Given the description of an element on the screen output the (x, y) to click on. 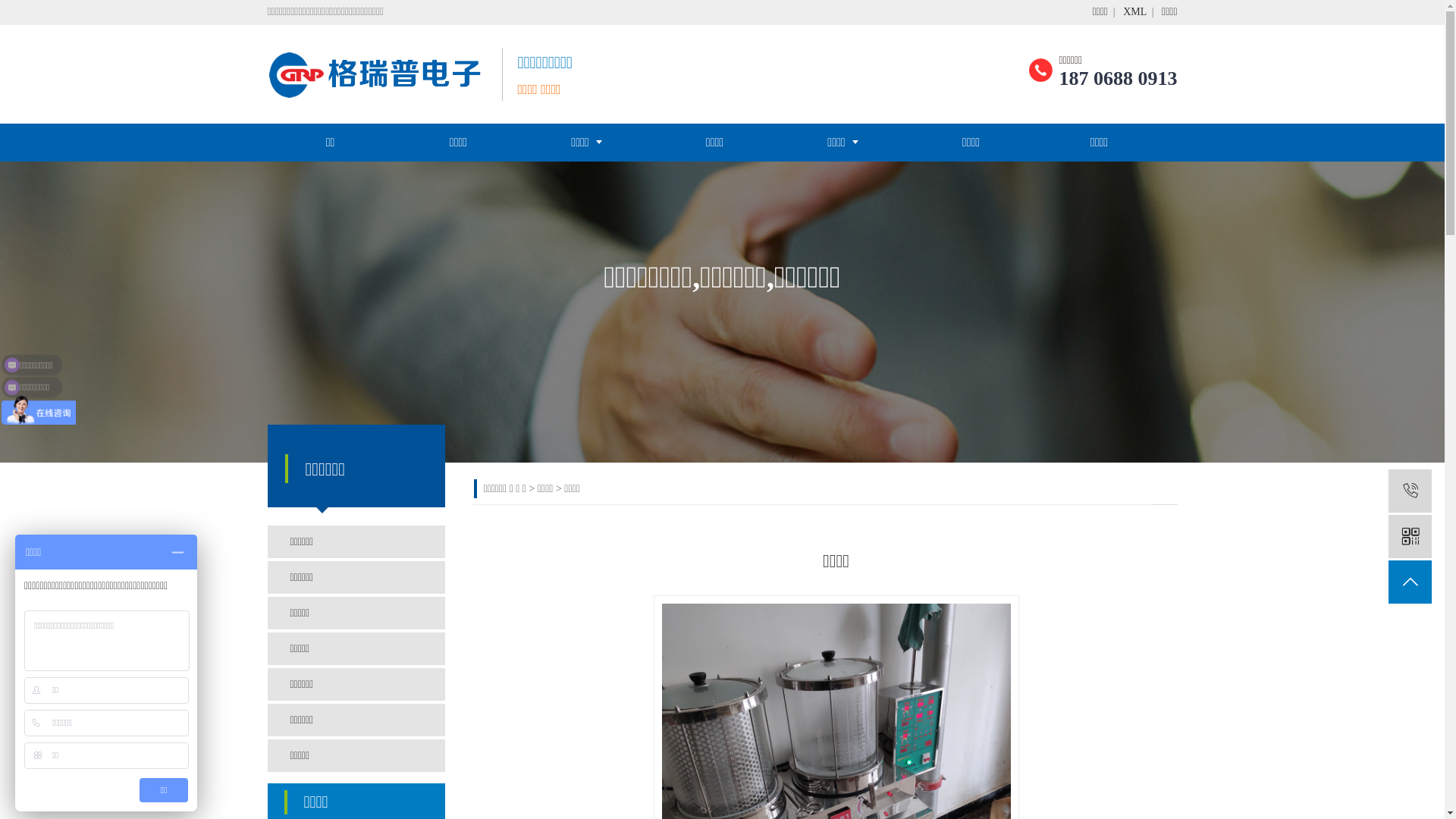
XML Element type: text (1134, 11)
